Given the description of an element on the screen output the (x, y) to click on. 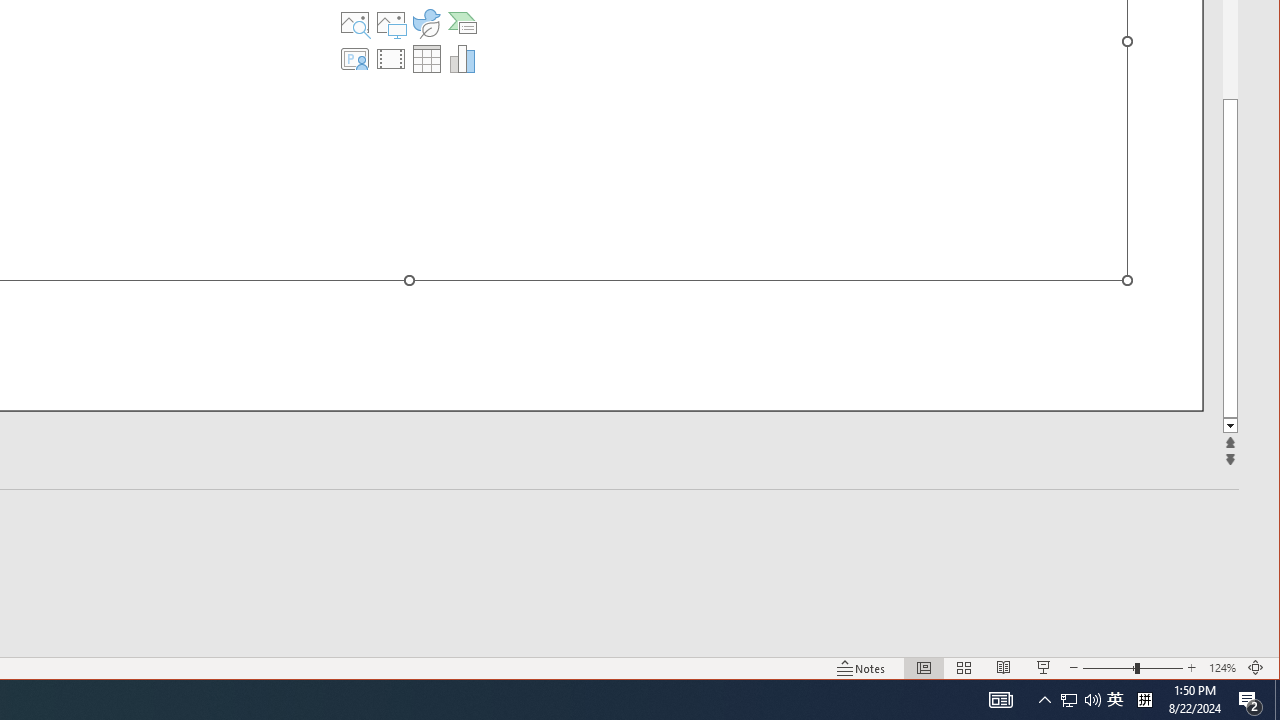
Zoom 124% (1222, 668)
